Given the description of an element on the screen output the (x, y) to click on. 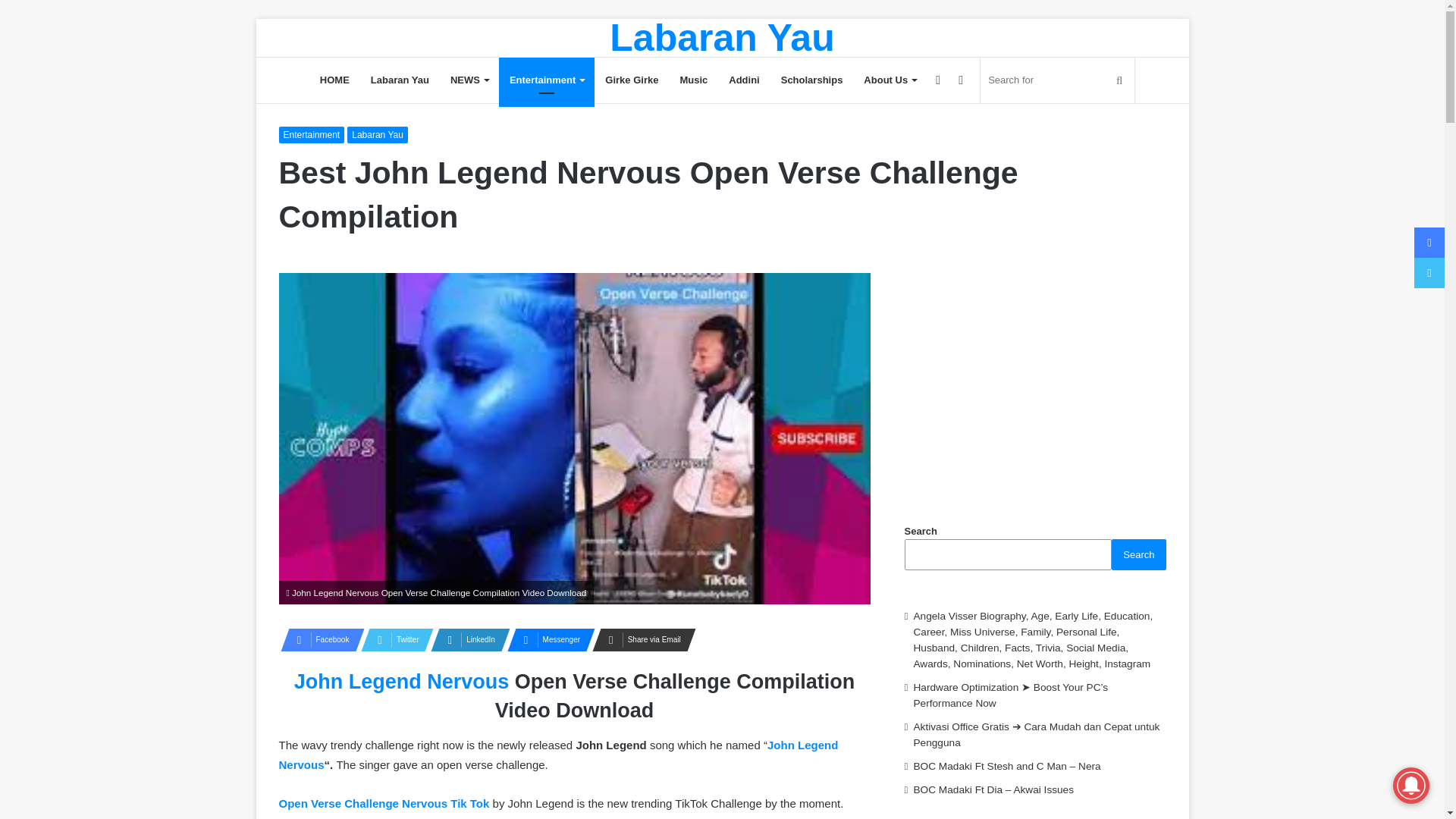
Addini (743, 80)
John Legend Nervous (558, 754)
Facebook (318, 639)
About Us (889, 80)
Scholarships (811, 80)
Labaran Yau (377, 134)
Entertainment (546, 80)
Twitter (393, 639)
Messenger (546, 639)
NEWS (469, 80)
Entertainment (312, 134)
Labaran Yau (722, 37)
John Legend Nervous (401, 681)
Labaran Yau (399, 80)
Open Verse Challenge Nervous Tik Tok (384, 802)
